Given the description of an element on the screen output the (x, y) to click on. 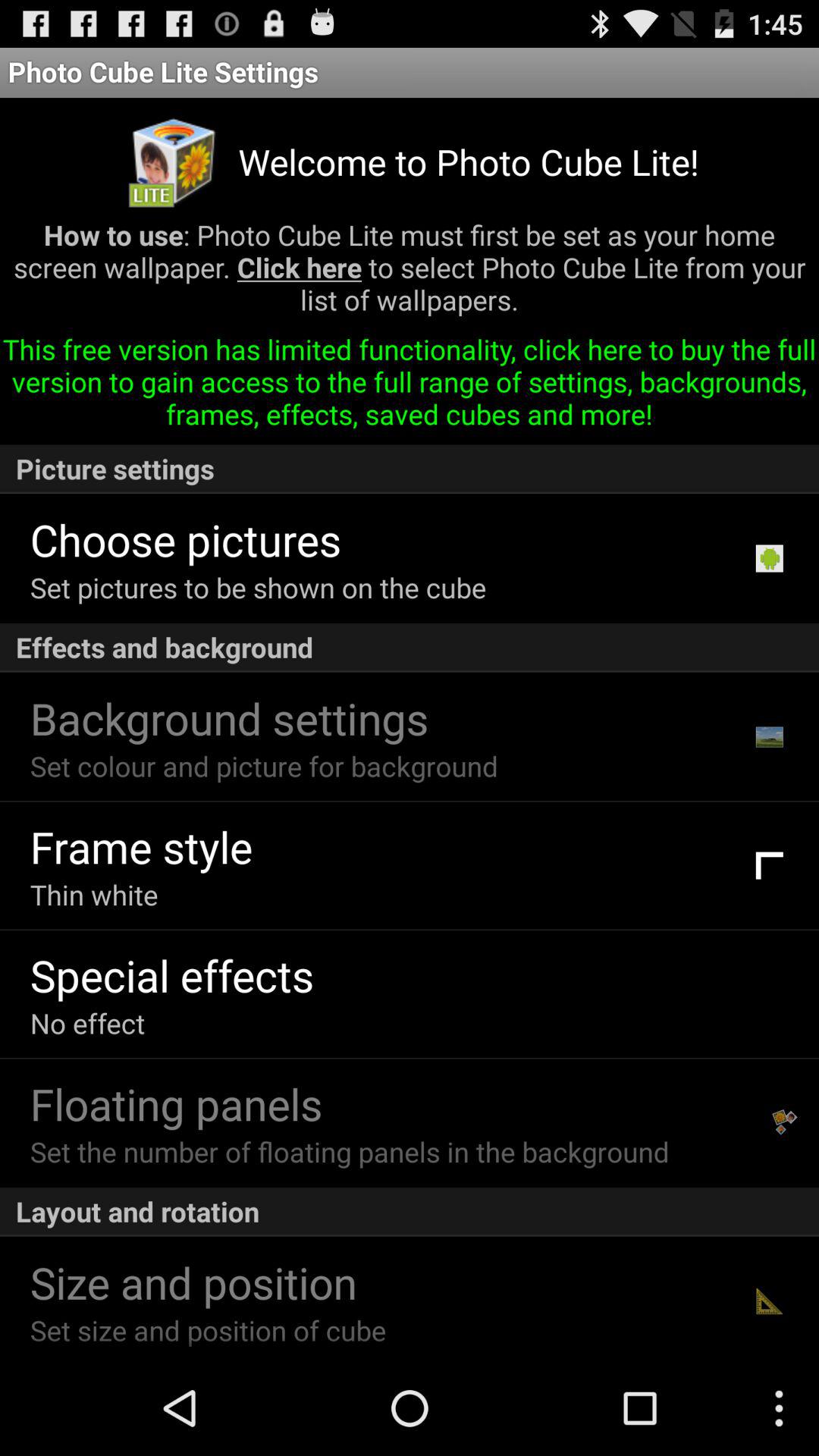
flip to the how to use app (409, 273)
